Given the description of an element on the screen output the (x, y) to click on. 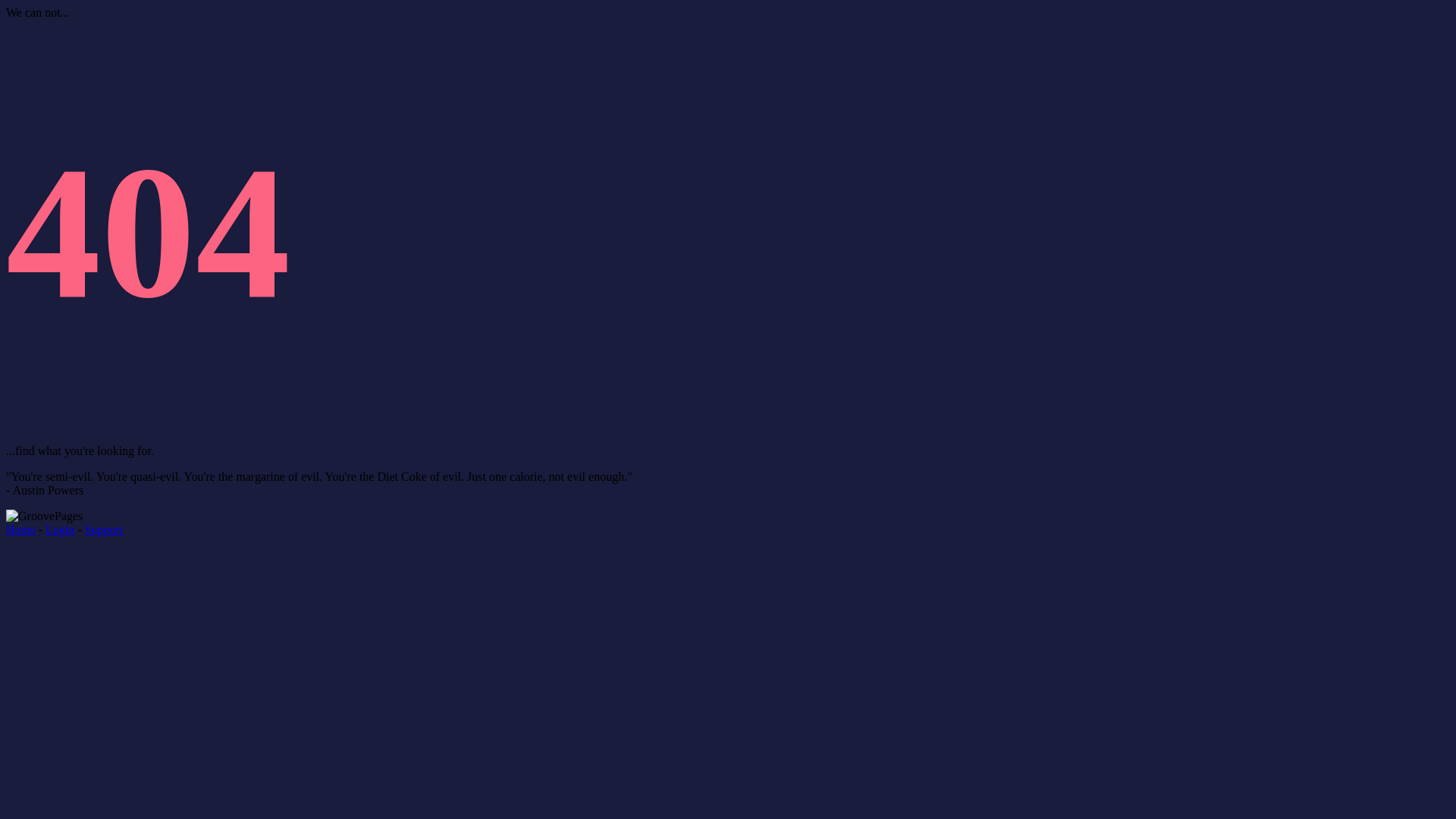
Support Element type: text (103, 529)
Login Element type: text (59, 529)
Home Element type: text (20, 529)
